Given the description of an element on the screen output the (x, y) to click on. 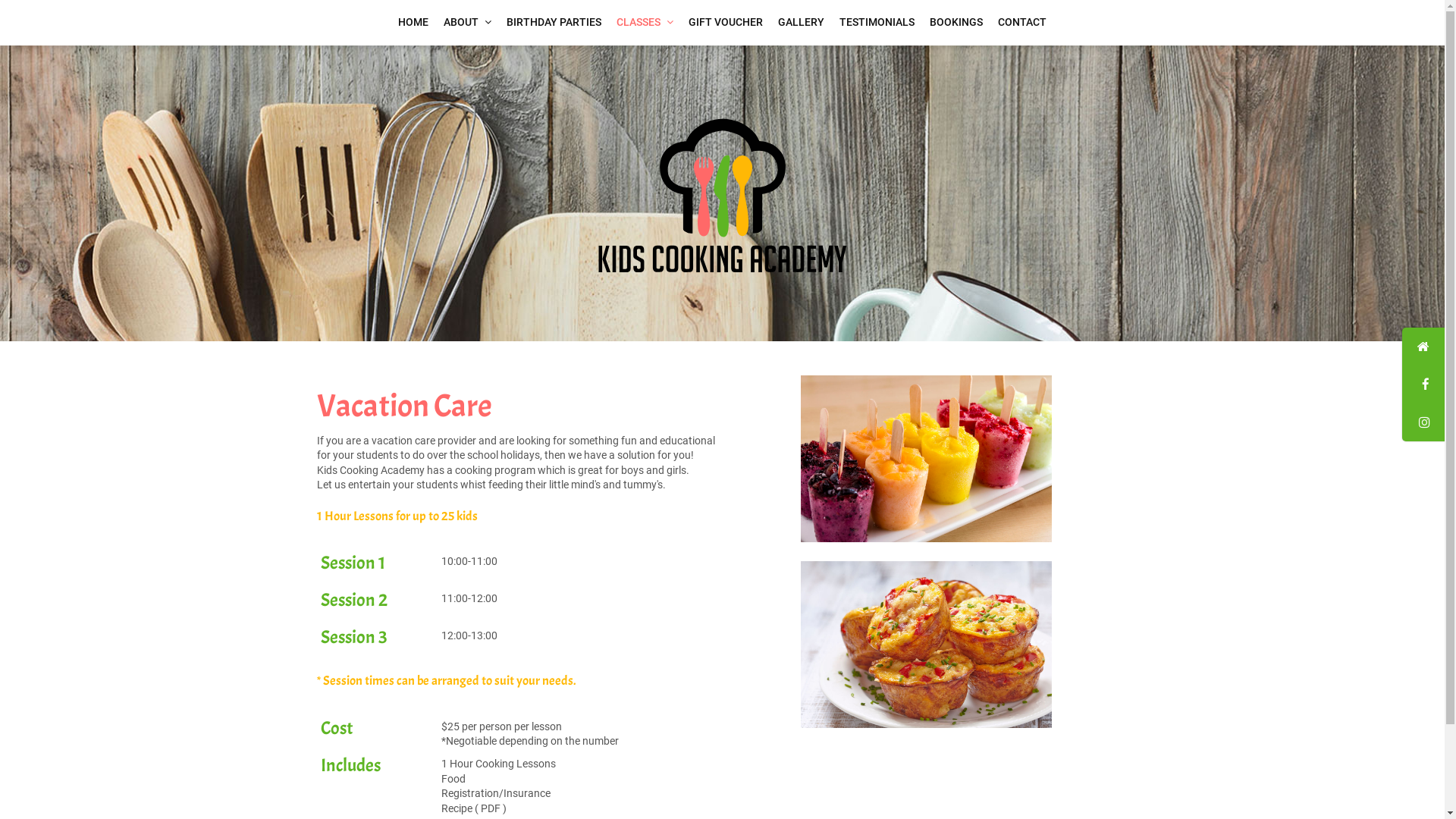
GALLERY Element type: text (800, 22)
CLASSES Element type: text (644, 22)
BIRTHDAY PARTIES Element type: text (553, 22)
GIFT VOUCHER Element type: text (725, 22)
HOME Element type: text (413, 22)
BOOKINGS Element type: text (956, 22)
ABOUT Element type: text (467, 22)
CONTACT Element type: text (1022, 22)
TESTIMONIALS Element type: text (876, 22)
